Given the description of an element on the screen output the (x, y) to click on. 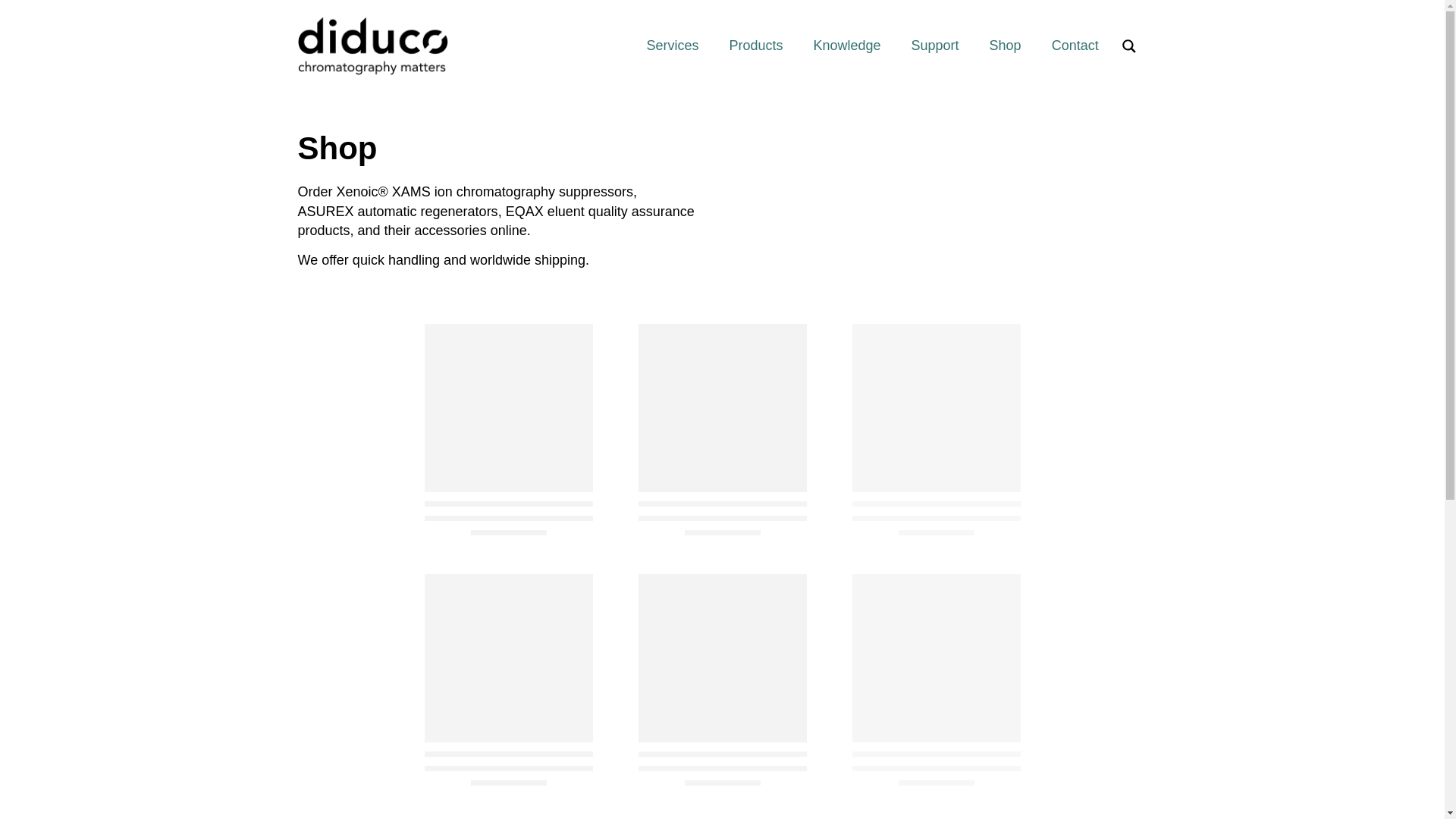
Knowledge (846, 45)
Services (671, 45)
Support (935, 45)
Contact (1074, 45)
Products (755, 45)
Shop (1005, 45)
